Given the description of an element on the screen output the (x, y) to click on. 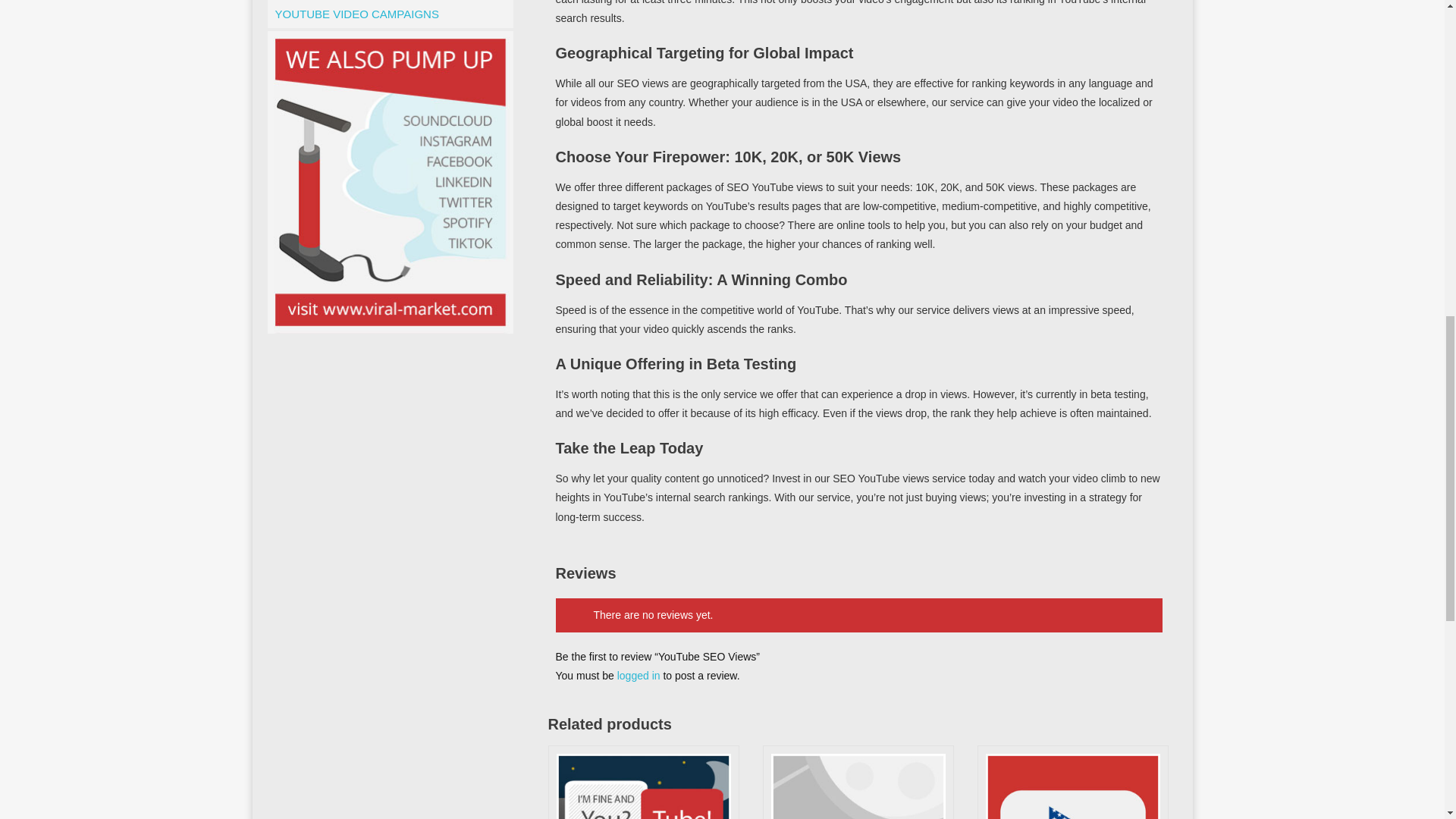
logged in (639, 675)
